Given the description of an element on the screen output the (x, y) to click on. 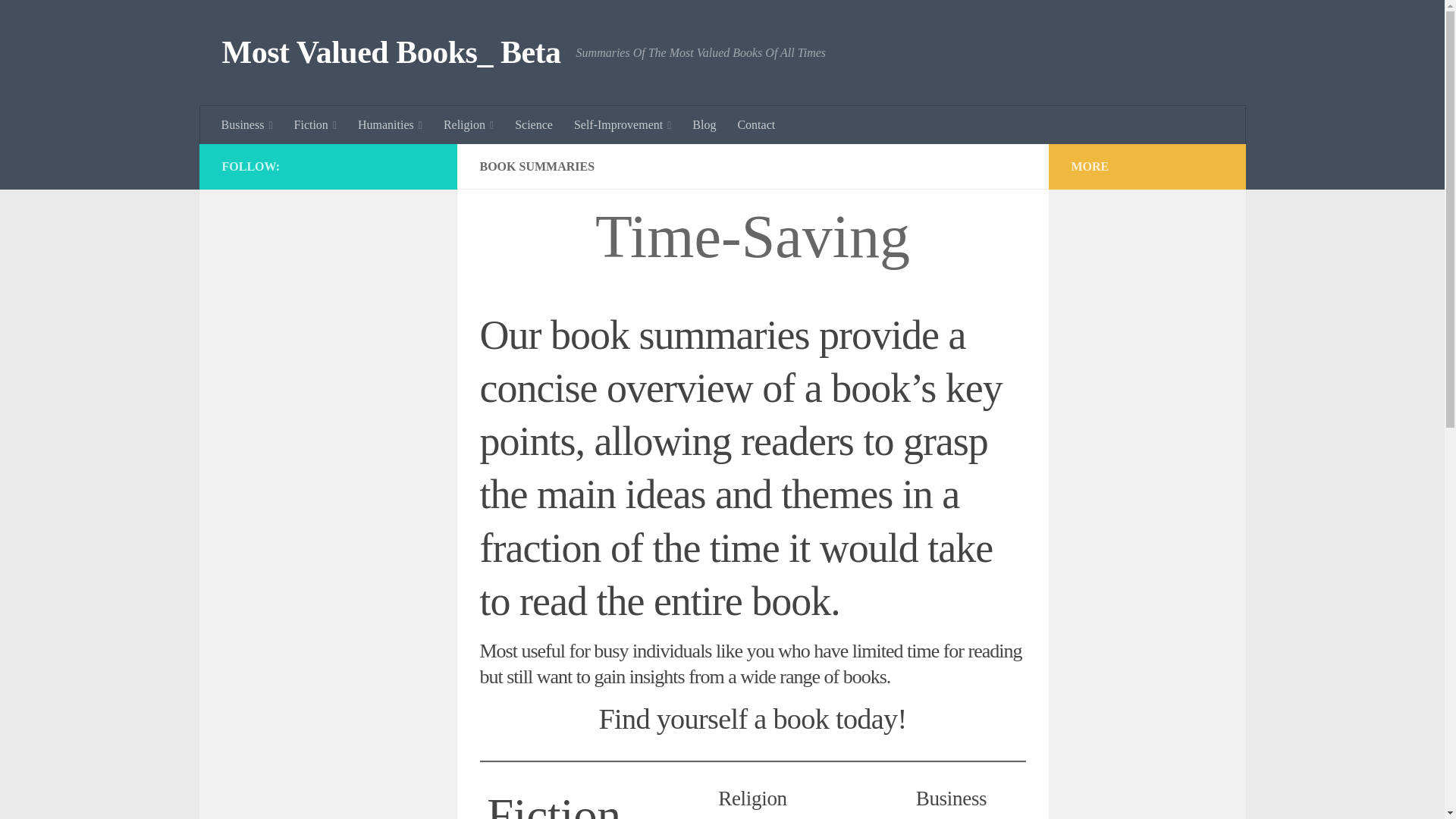
Skip to content (59, 20)
